Given the description of an element on the screen output the (x, y) to click on. 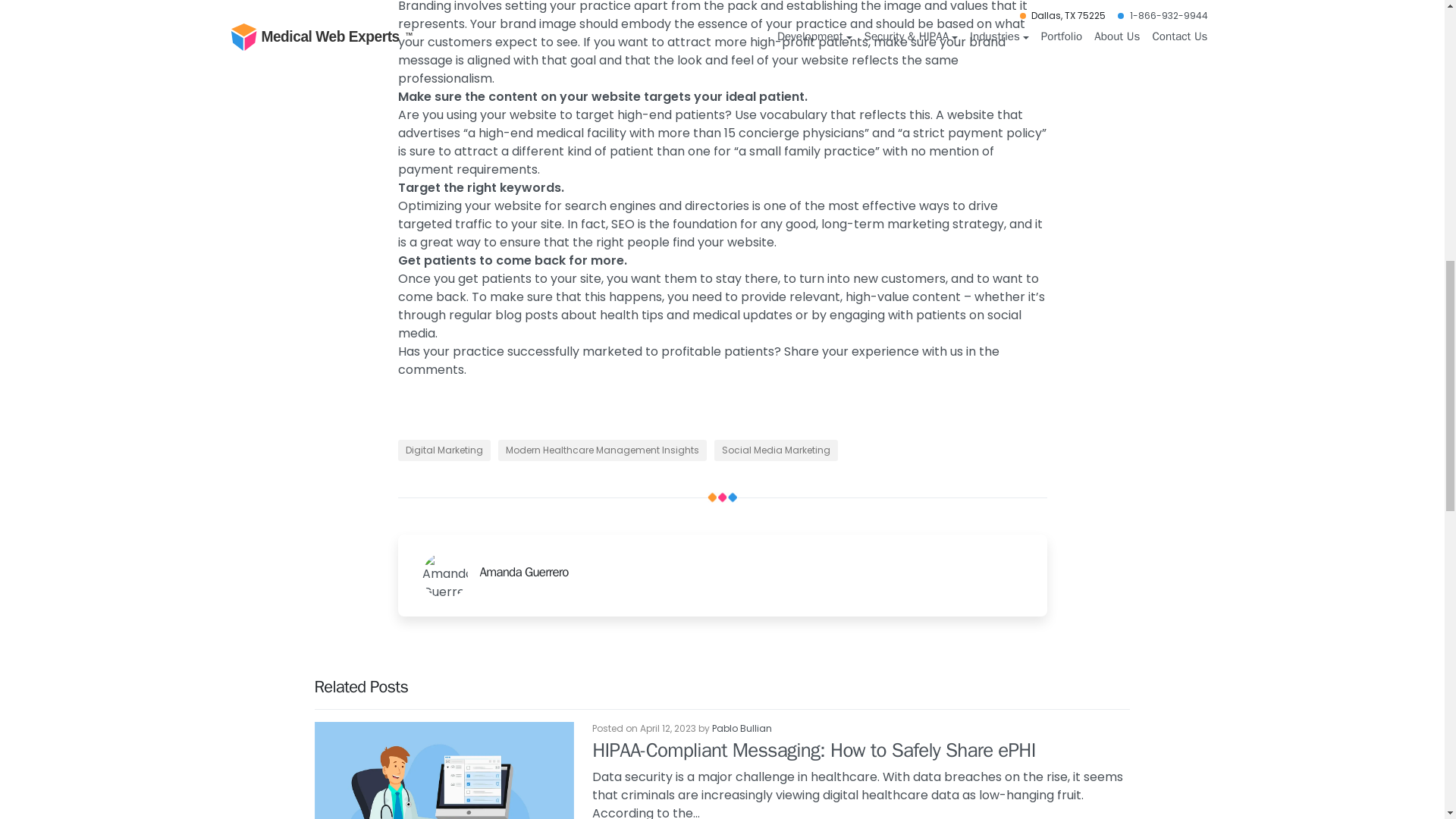
Social Media Marketing (776, 450)
HIPAA-Compliant Messaging: How to Safely Share ePHI (813, 749)
Amanda Guerrero (753, 572)
Digital Marketing (443, 450)
Pablo Bullian (741, 727)
Modern Healthcare Management Insights (601, 450)
